Given the description of an element on the screen output the (x, y) to click on. 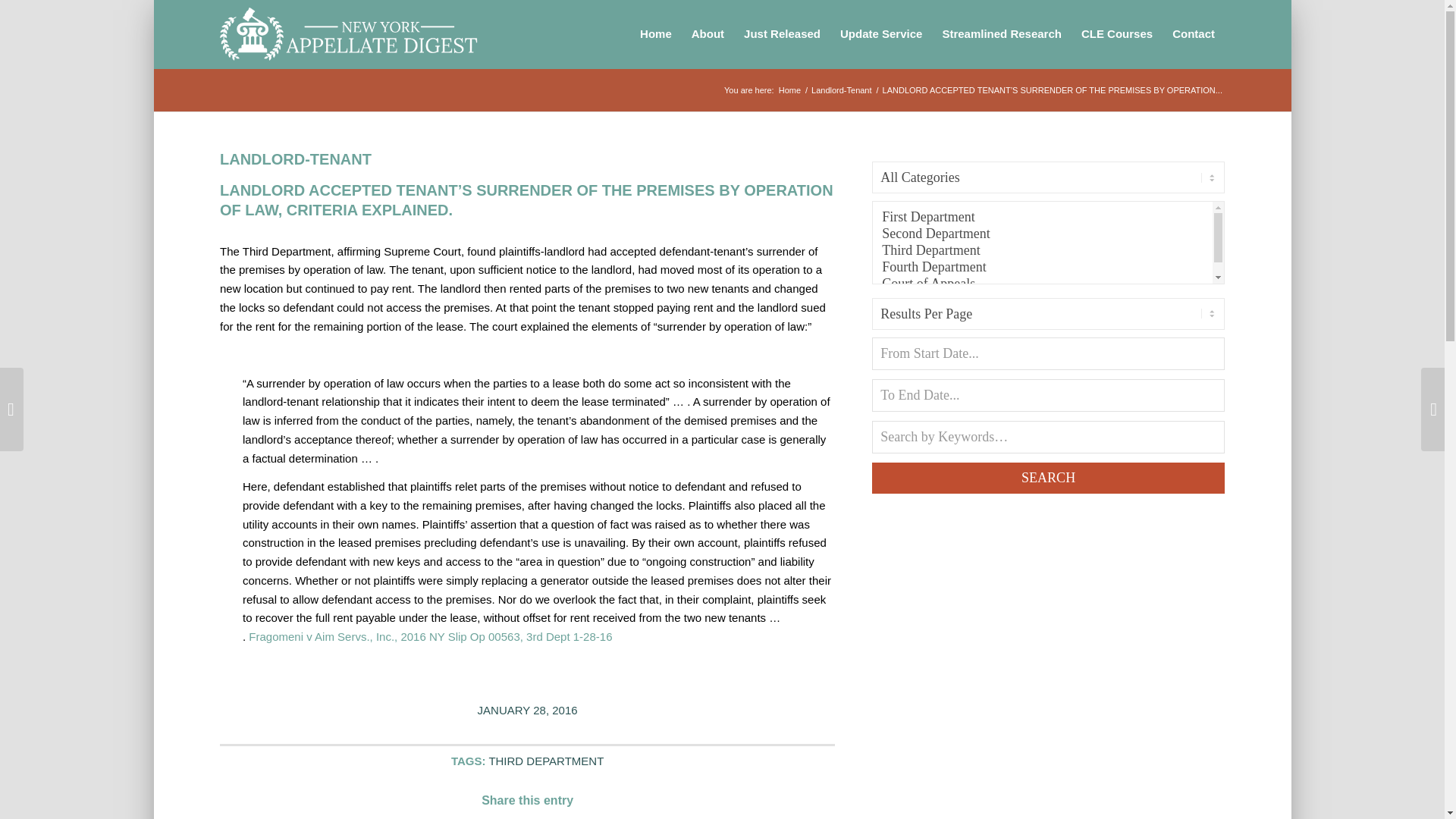
Home (789, 90)
THIRD DEPARTMENT (545, 760)
Streamlined Research (1001, 33)
Update Service (880, 33)
New York Appellate Digest (789, 90)
LANDLORD-TENANT (295, 158)
Just Released (781, 33)
Landlord-Tenant (842, 90)
NYAppelateLogo-White (351, 33)
